Given the description of an element on the screen output the (x, y) to click on. 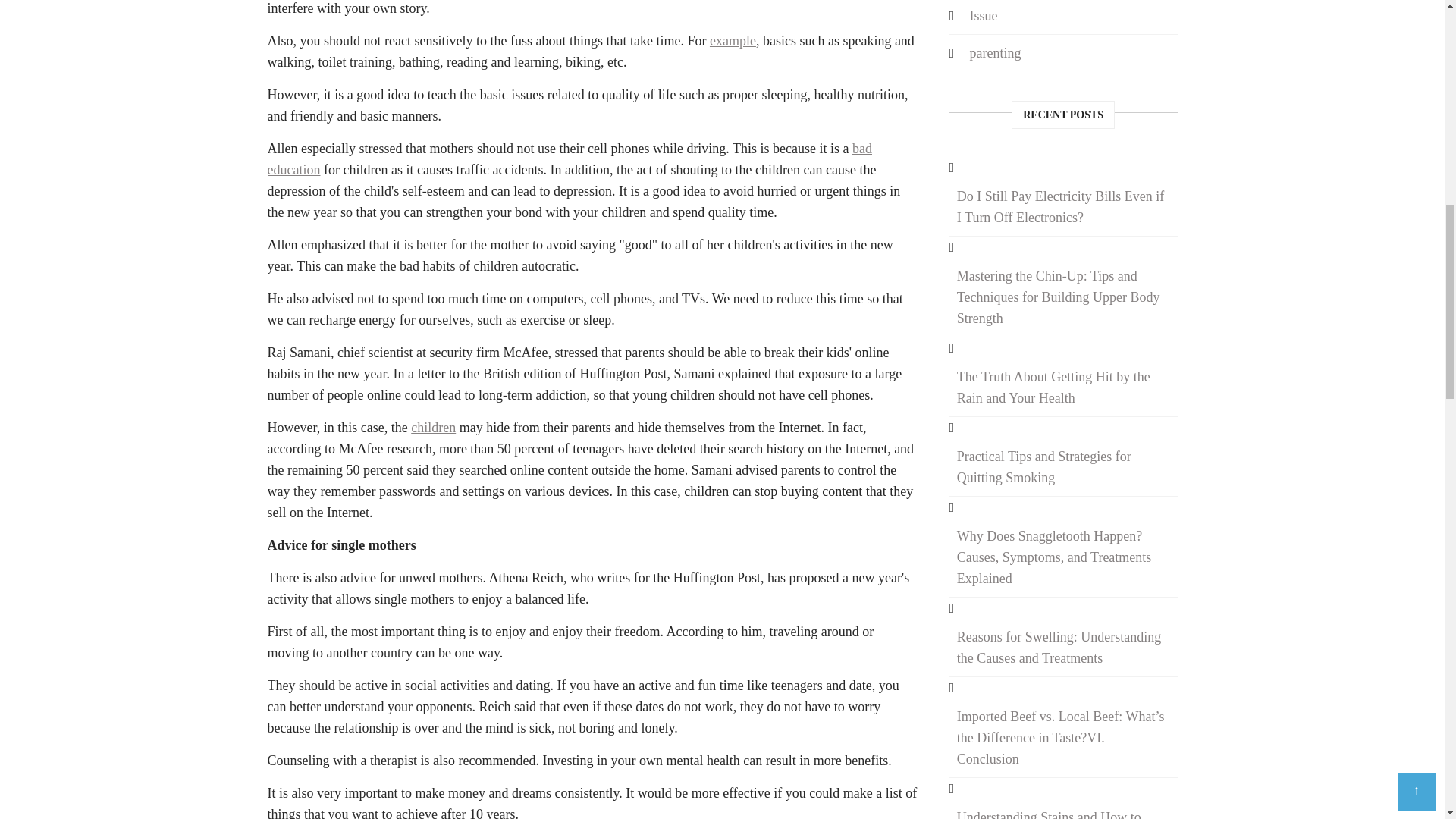
bad education (569, 158)
children (432, 427)
parenting (993, 53)
Practical Tips and Strategies for Quitting Smoking (1063, 467)
bad education (569, 158)
The Truth About Getting Hit by the Rain and Your Health (1063, 387)
Issue (982, 17)
example (732, 40)
example (732, 40)
children (432, 427)
